Given the description of an element on the screen output the (x, y) to click on. 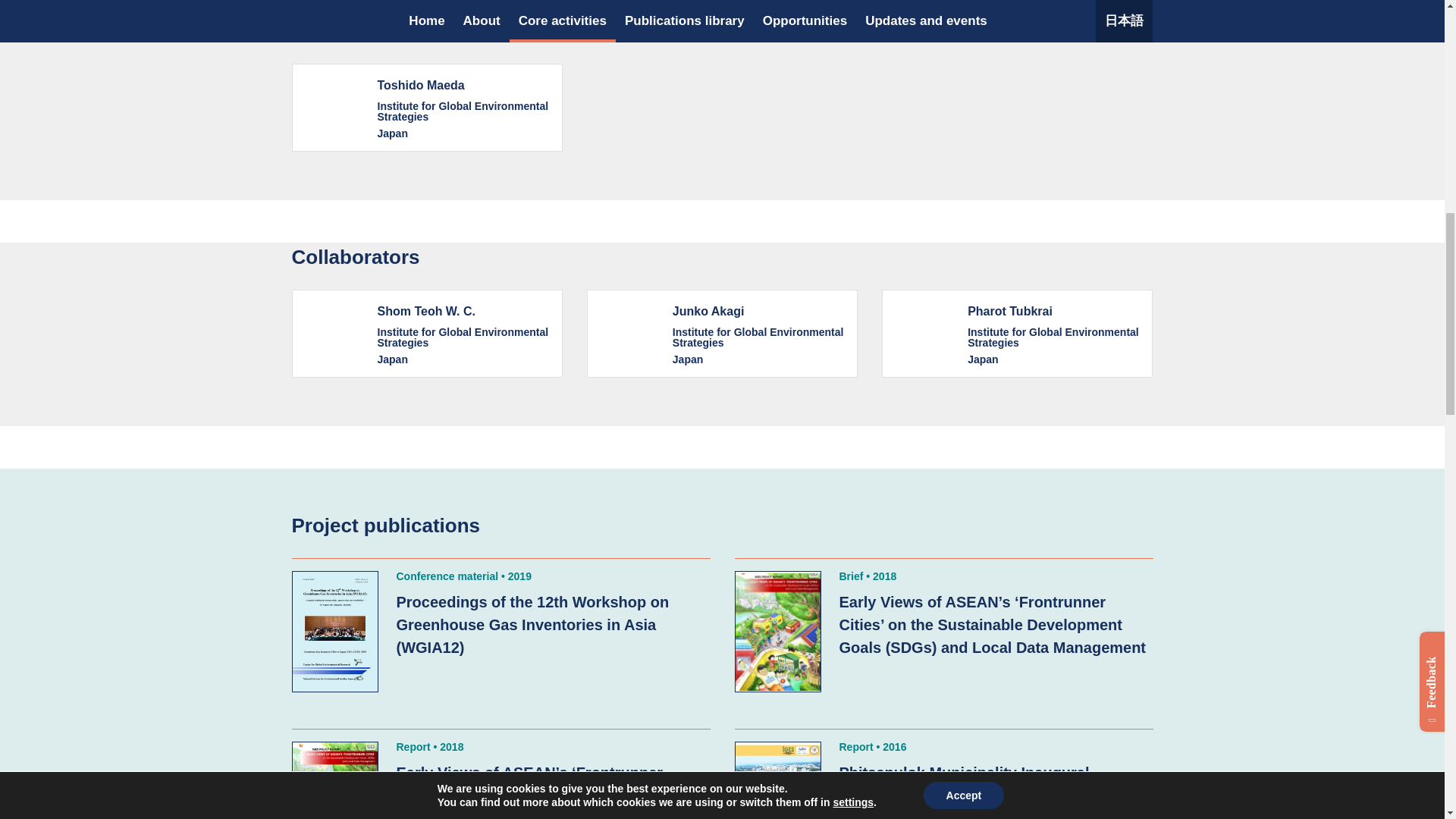
Go to Shom Teoh W. C.'s profile (426, 333)
Go to Junko Akagi's profile (721, 333)
Go to Toshido Maeda's profile (426, 107)
Go to Pharot Tubkrai's profile (1017, 333)
